Given the description of an element on the screen output the (x, y) to click on. 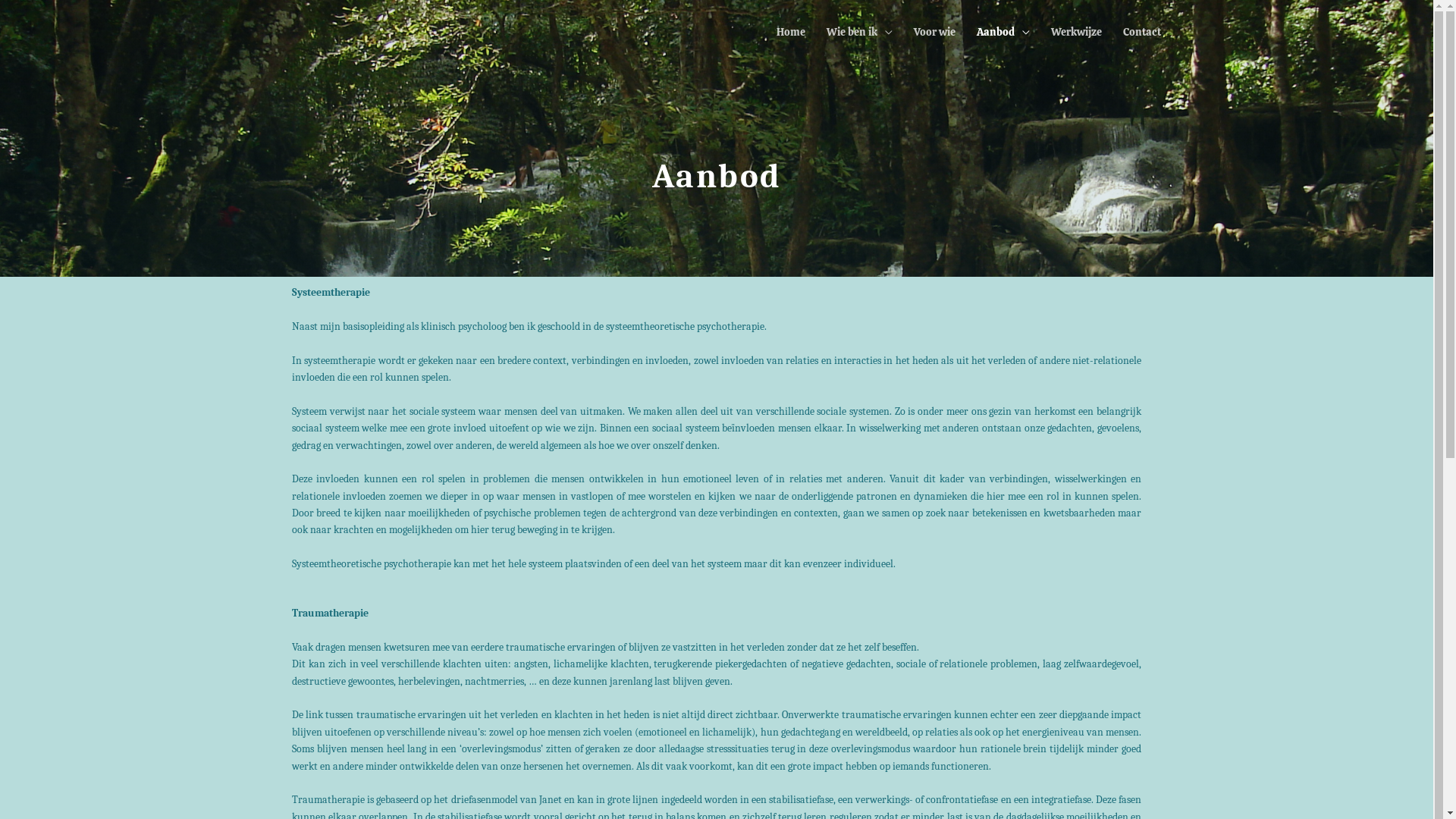
Home Element type: text (790, 31)
Voor wie Element type: text (934, 31)
Wie ben ik Element type: text (859, 31)
Contact Element type: text (1141, 31)
Werkwijze Element type: text (1076, 31)
Aanbod Element type: text (1003, 31)
